Given the description of an element on the screen output the (x, y) to click on. 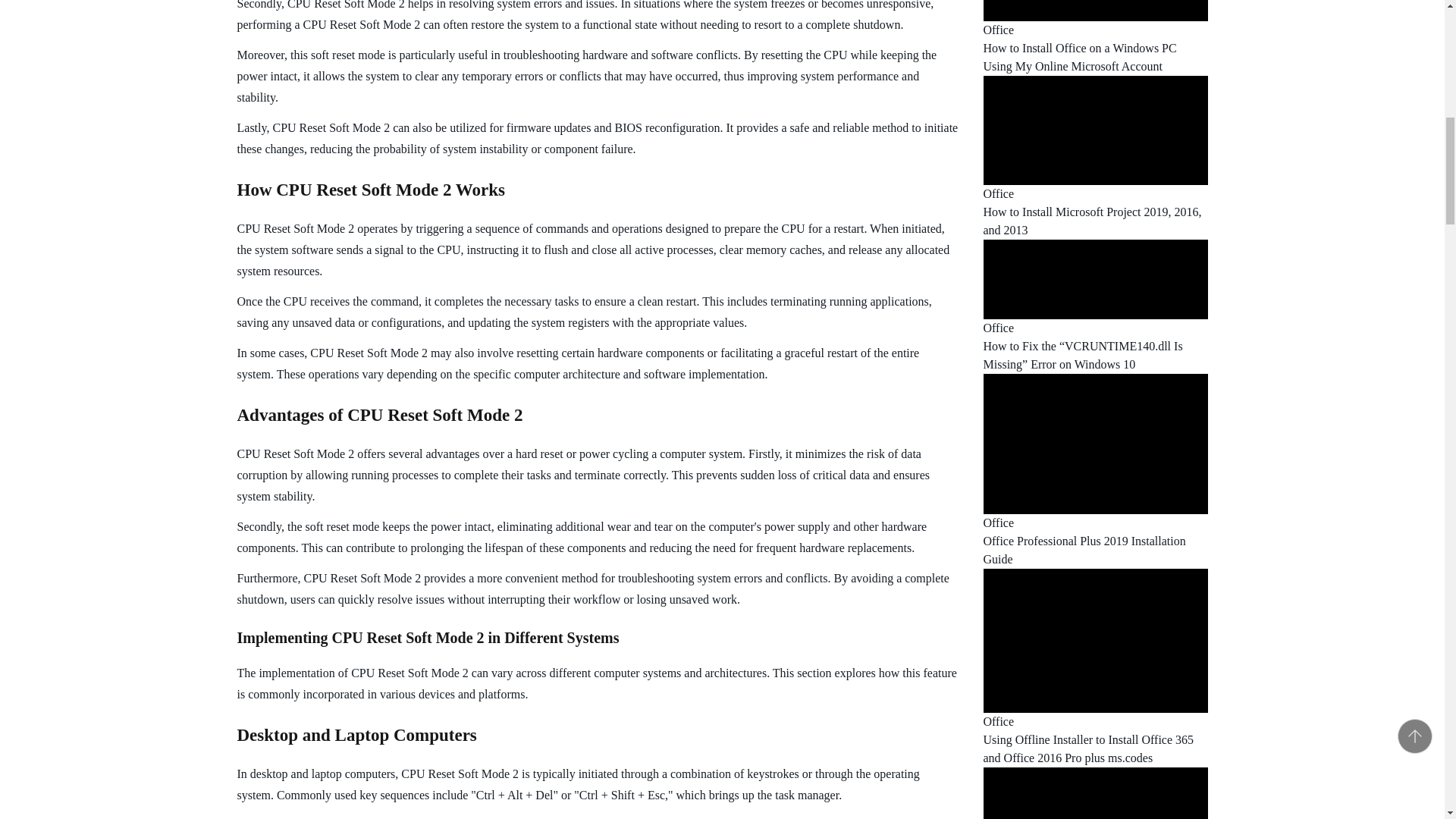
Show articles tagged Office (997, 29)
Show articles tagged Office (997, 327)
Show articles tagged Office (997, 522)
Show articles tagged Office (997, 193)
